Given the description of an element on the screen output the (x, y) to click on. 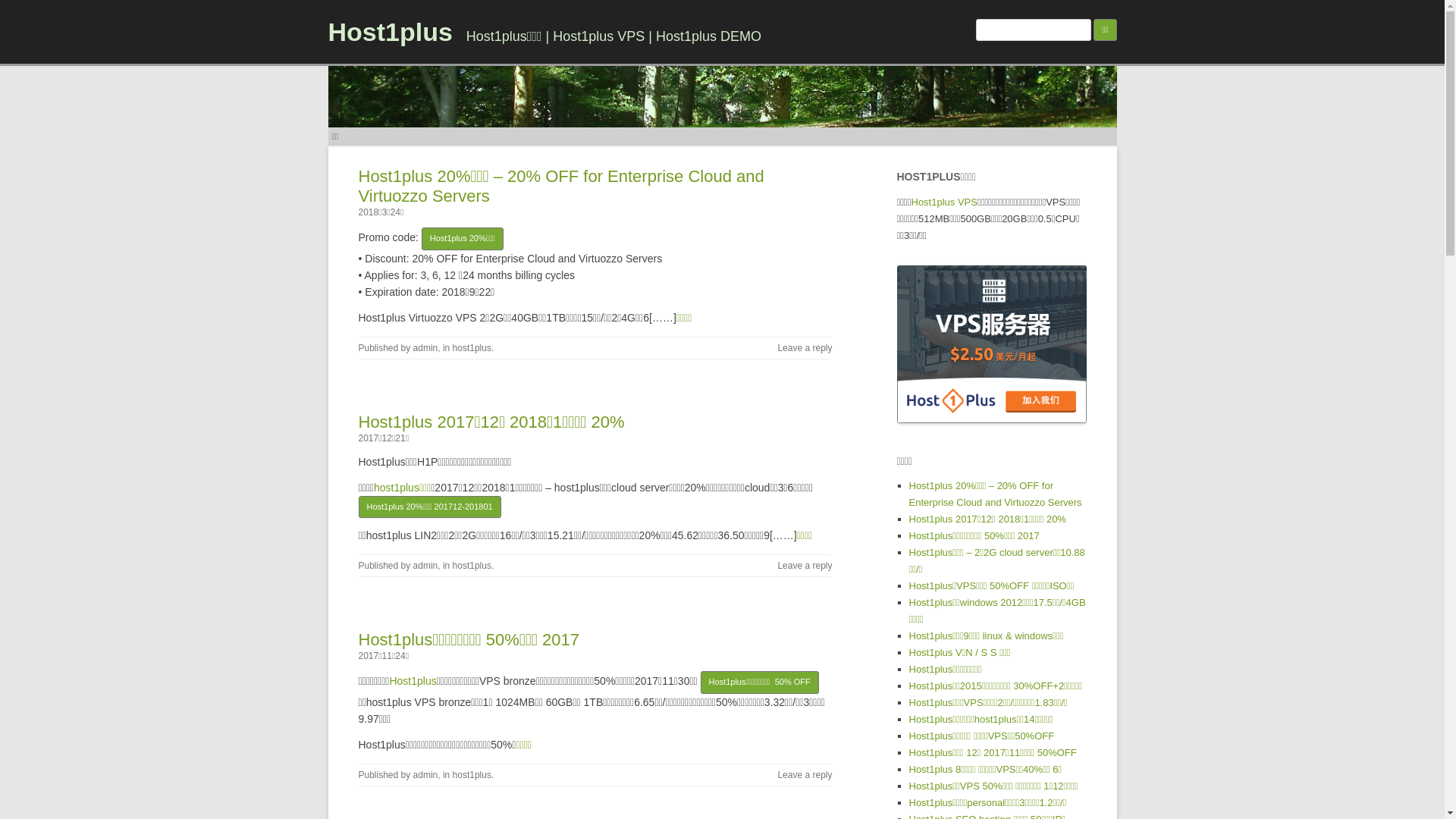
admin Element type: text (425, 565)
admin Element type: text (425, 774)
Leave a reply Element type: text (804, 347)
host1plus Element type: text (471, 774)
admin Element type: text (425, 347)
Leave a reply Element type: text (804, 774)
host1plus Element type: text (471, 347)
host1plus Element type: text (471, 565)
Skip to content Element type: text (756, 132)
Host1plus Element type: text (412, 680)
Leave a reply Element type: text (804, 565)
Host1plus VPS Element type: text (944, 201)
 HOST1PLUS Element type: hover (990, 344)
Host1plus Element type: text (389, 31)
